Given the description of an element on the screen output the (x, y) to click on. 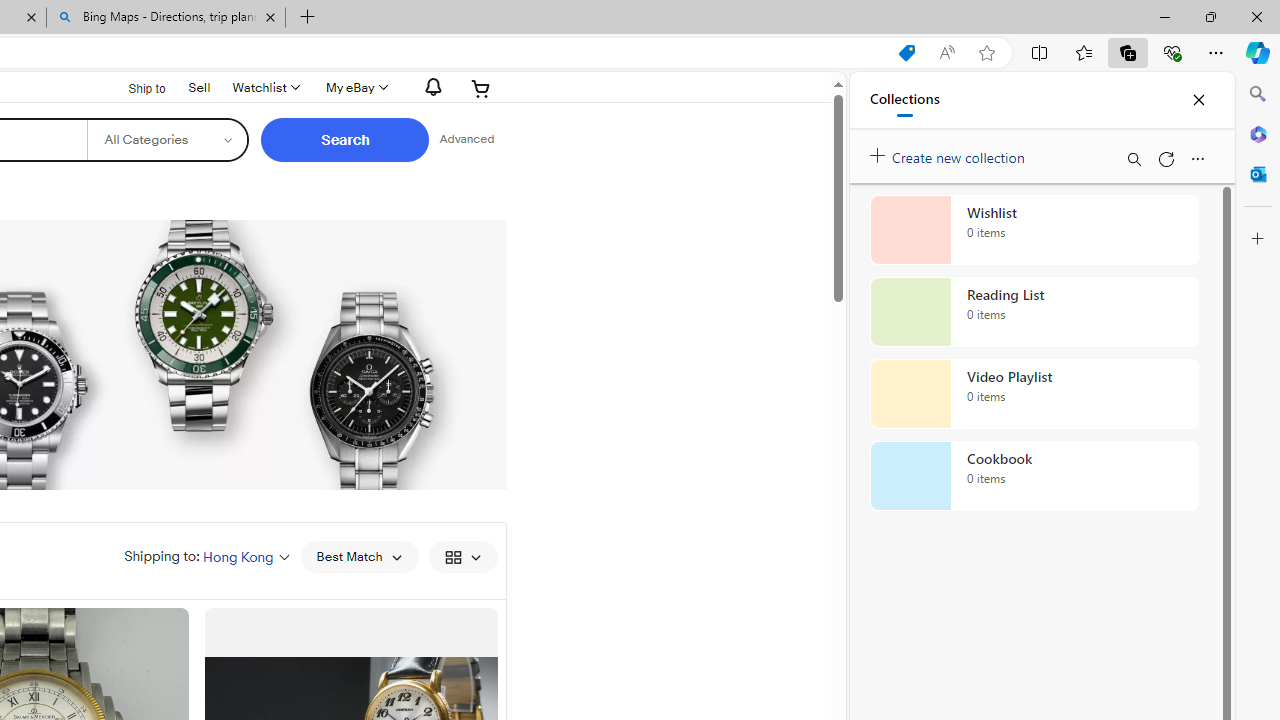
Ship to (134, 86)
Expand Cart (481, 88)
Video Playlist collection, 0 items (1034, 394)
Create new collection (950, 153)
WatchlistExpand Watch List (264, 88)
More options menu (1197, 158)
Ship to (134, 89)
Your shopping cart (481, 88)
Cookbook collection, 0 items (1034, 475)
Wishlist collection, 0 items (1034, 229)
